Given the description of an element on the screen output the (x, y) to click on. 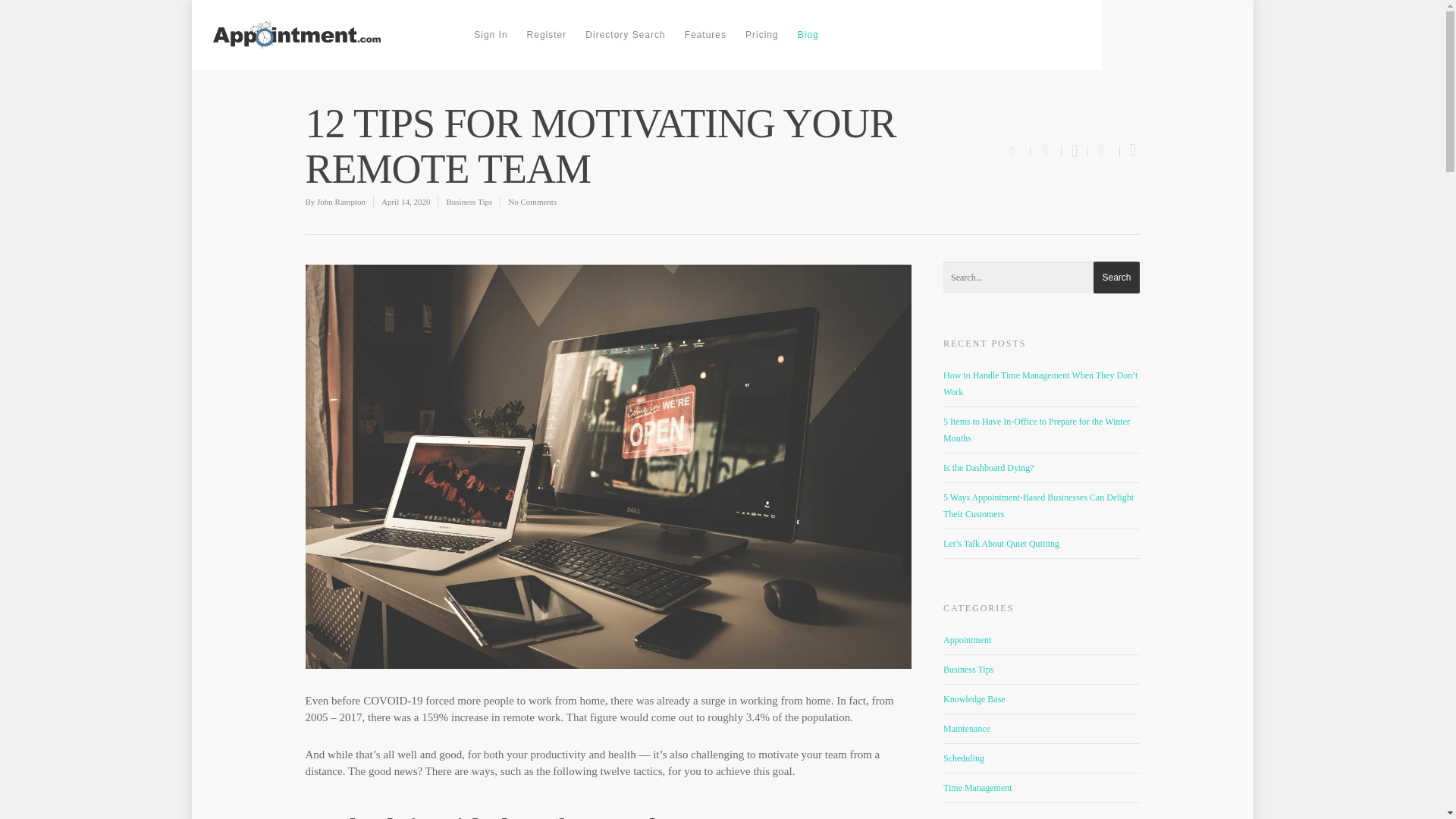
Love this (1019, 149)
Share this (1045, 151)
Share this (1103, 151)
team from a distance (591, 762)
Pin this (1129, 151)
Search (1115, 277)
Pricing (762, 45)
Register (547, 45)
Tweet this (1075, 151)
Search (1115, 277)
John Rampton (341, 201)
Help forum from ongoing queries. (1041, 699)
Features (705, 45)
No Comments (532, 201)
Business Tips (468, 201)
